Given the description of an element on the screen output the (x, y) to click on. 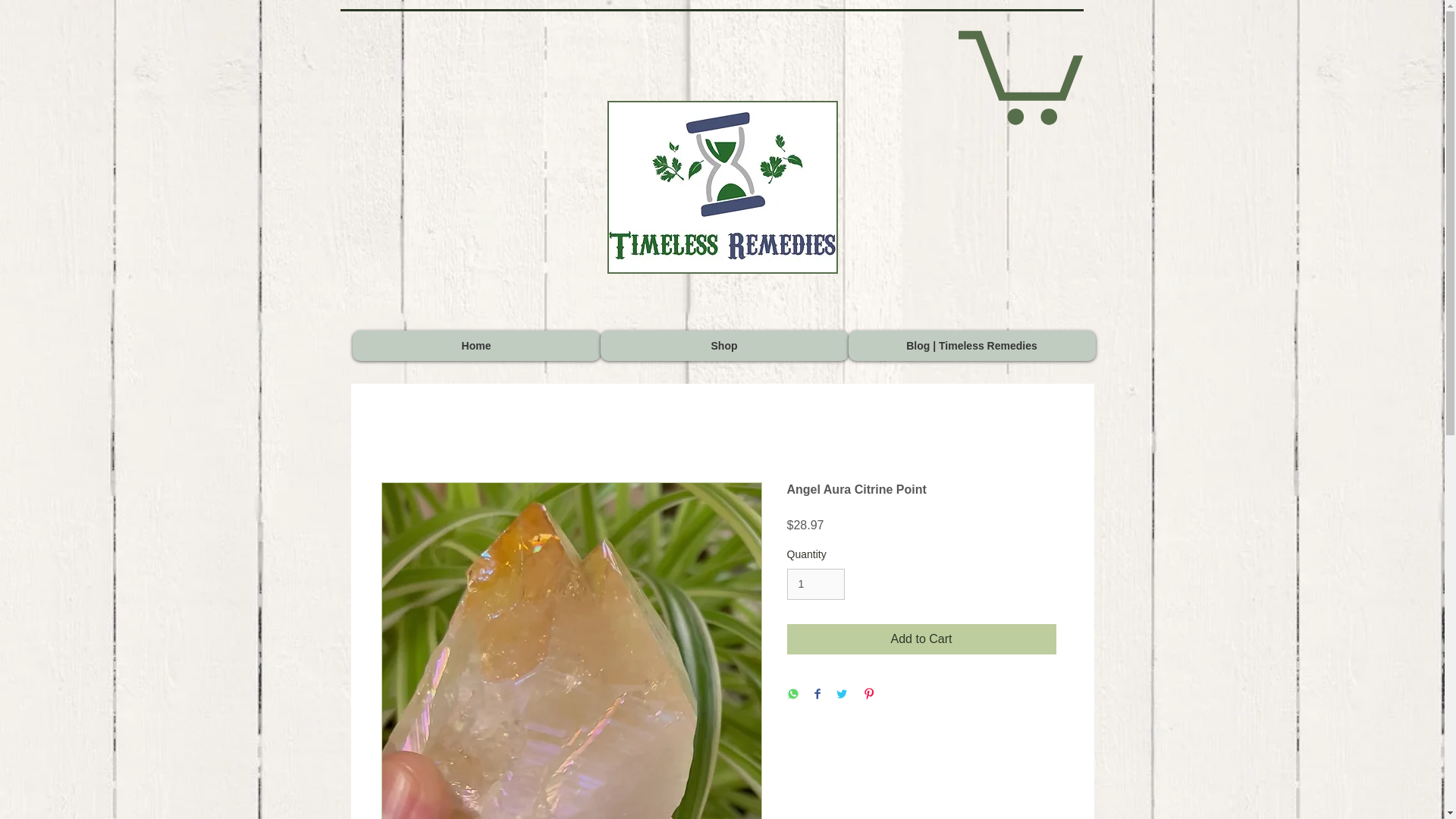
1 (815, 583)
Shop (723, 345)
Add to Cart (922, 639)
Home (475, 345)
